Given the description of an element on the screen output the (x, y) to click on. 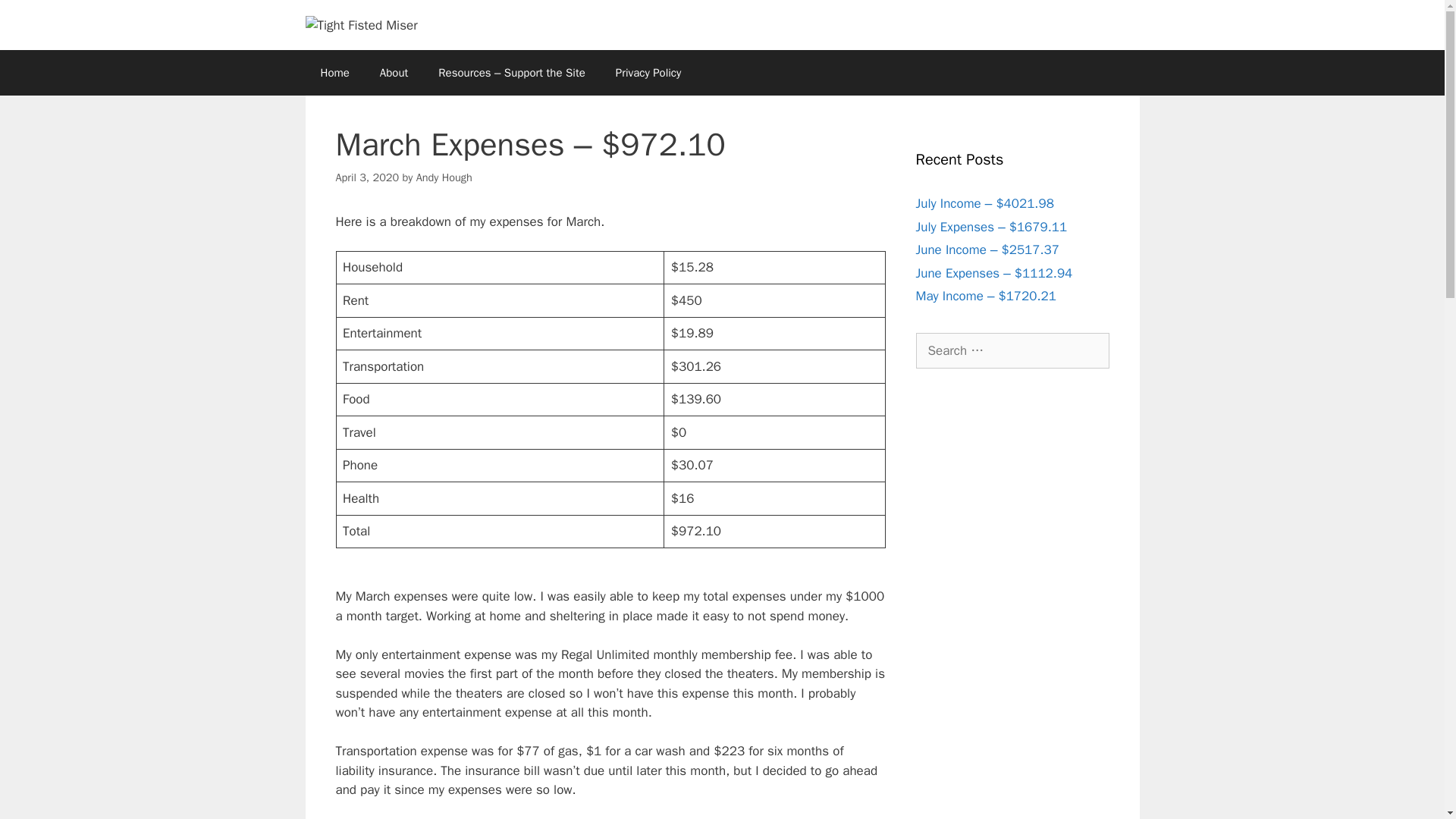
Privacy Policy (648, 72)
View all posts by Andy Hough (443, 177)
Andy Hough (443, 177)
About (394, 72)
Search (35, 18)
Home (334, 72)
Search for: (1012, 350)
